Given the description of an element on the screen output the (x, y) to click on. 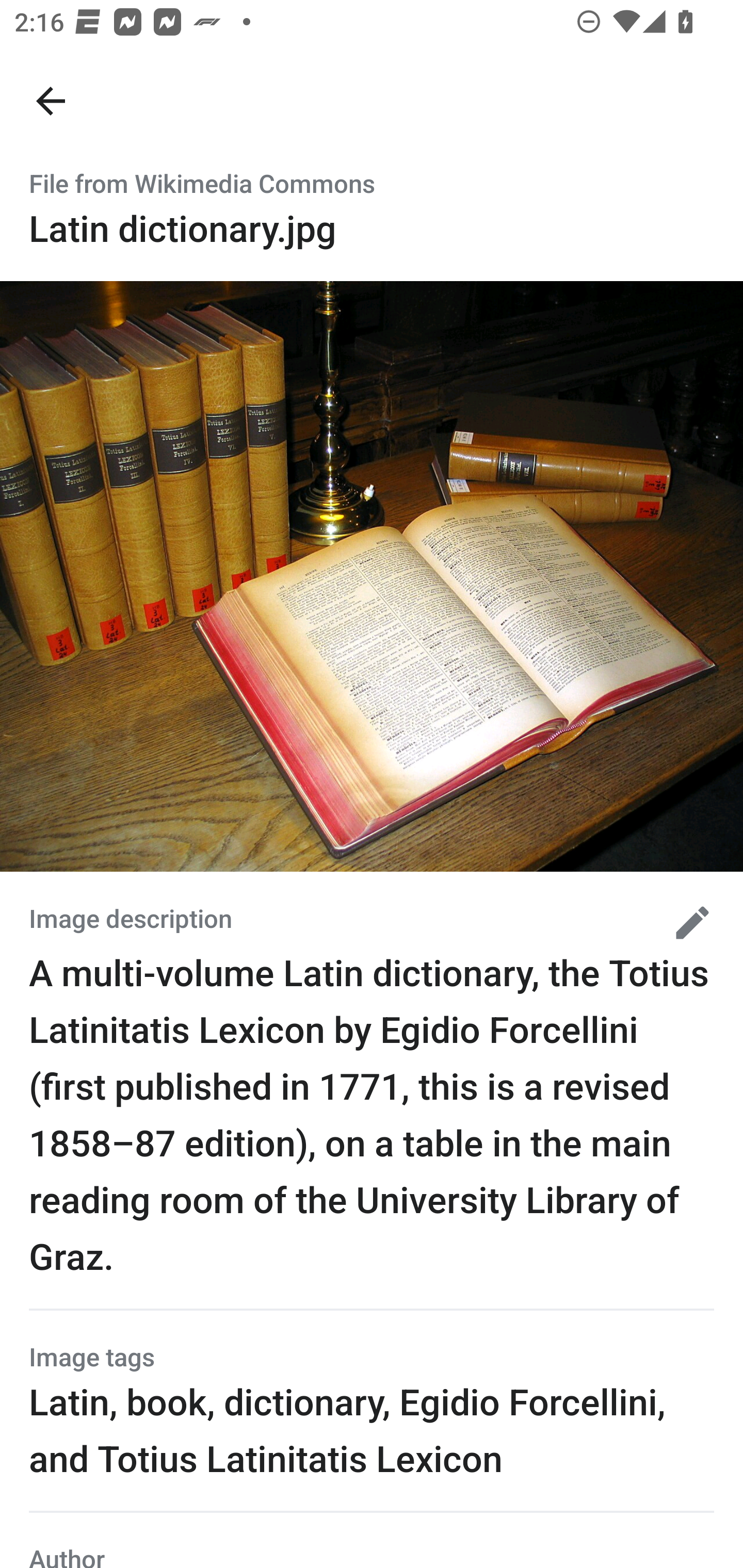
Navigate up (50, 101)
Edit Image description (685, 922)
